Given the description of an element on the screen output the (x, y) to click on. 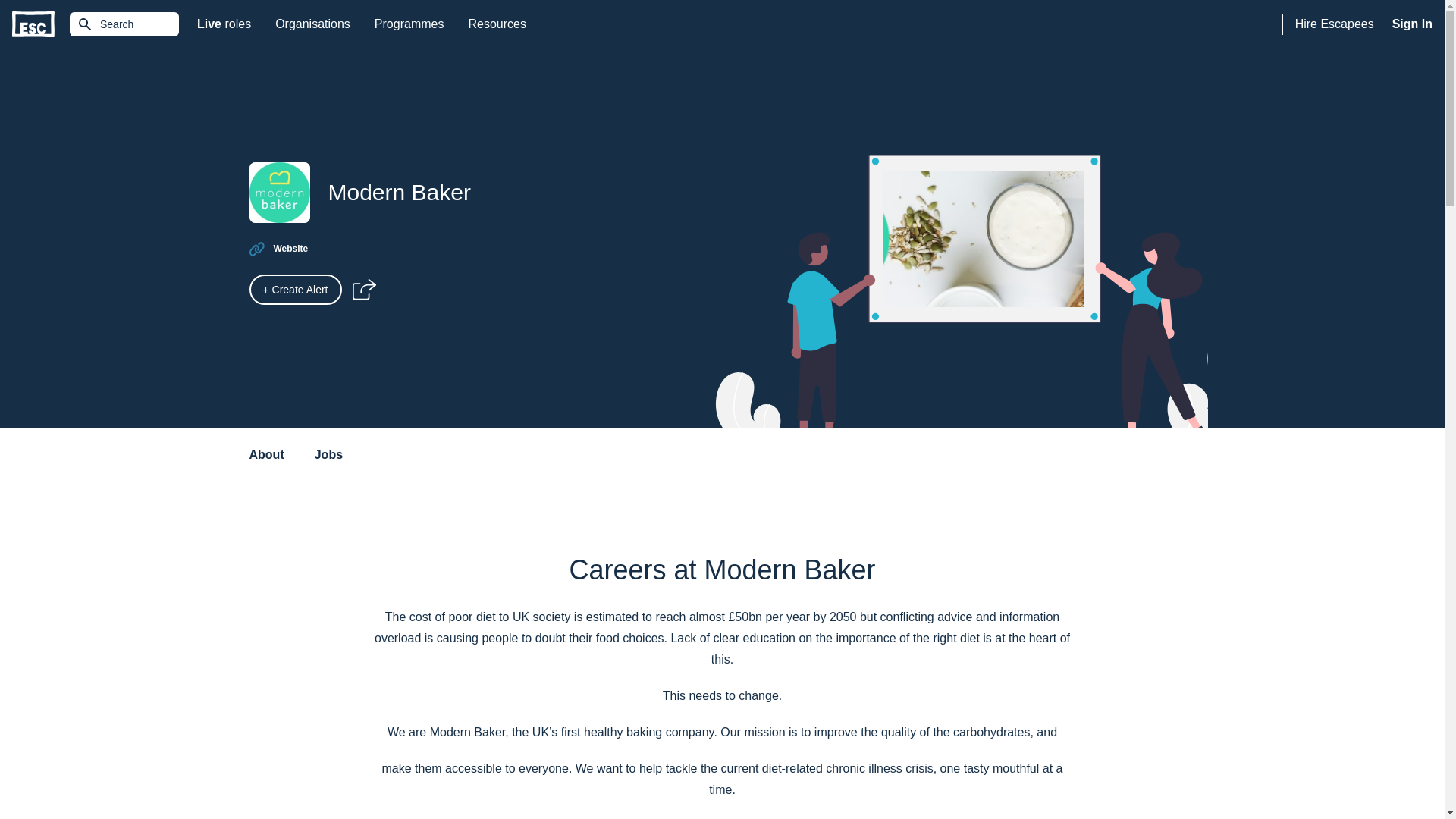
Resources (496, 24)
Sign In (1411, 24)
Search (124, 24)
Website (223, 24)
Hire Escapees (290, 248)
Programmes (1334, 24)
Escape the City (409, 24)
Organisations (33, 24)
